Given the description of an element on the screen output the (x, y) to click on. 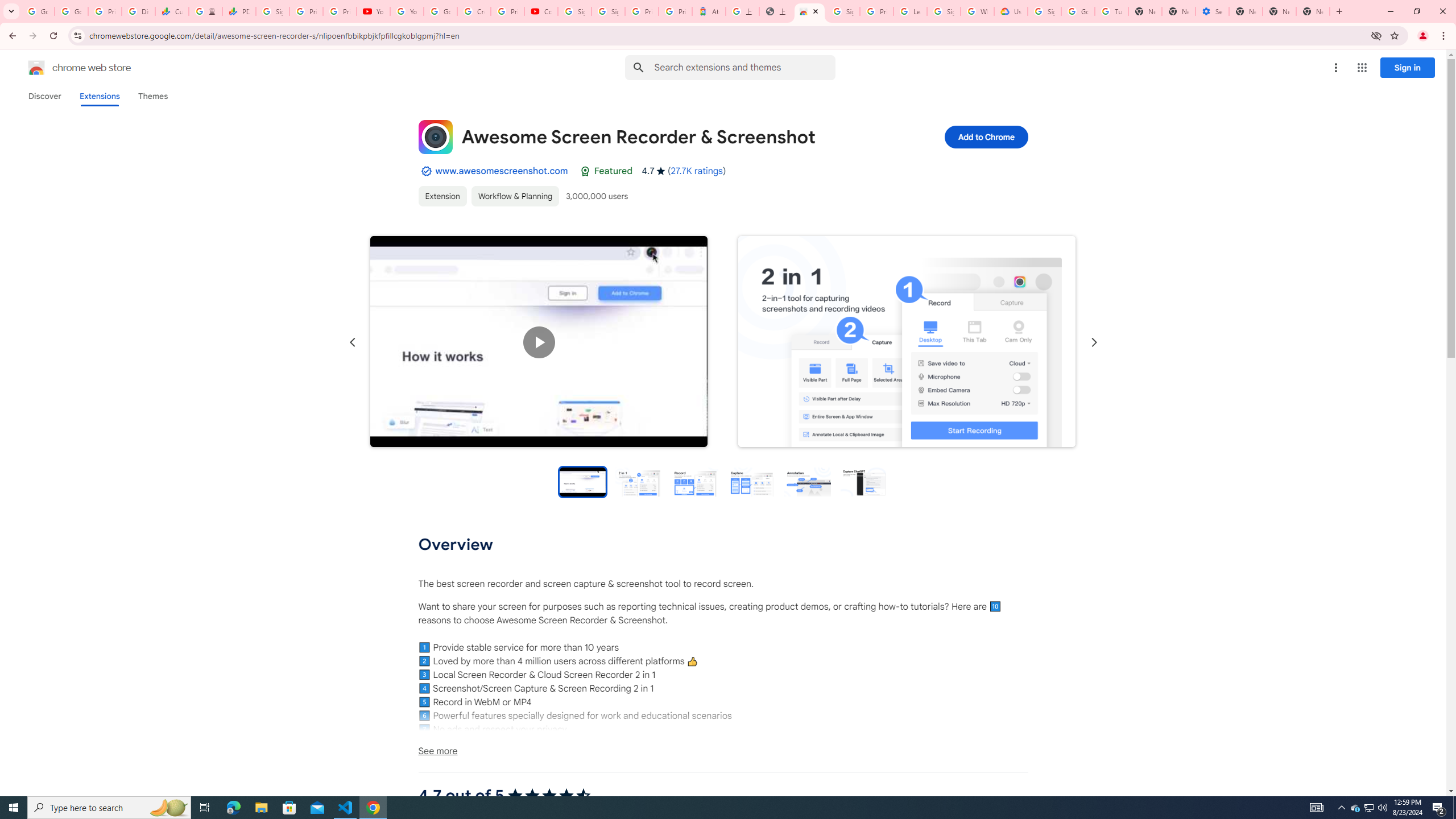
Item video thumbnail (582, 481)
27.7K ratings (696, 170)
Item media 1 video (538, 342)
Previous slide (352, 342)
Google Account Help (441, 11)
Privacy Checkup (339, 11)
